Given the description of an element on the screen output the (x, y) to click on. 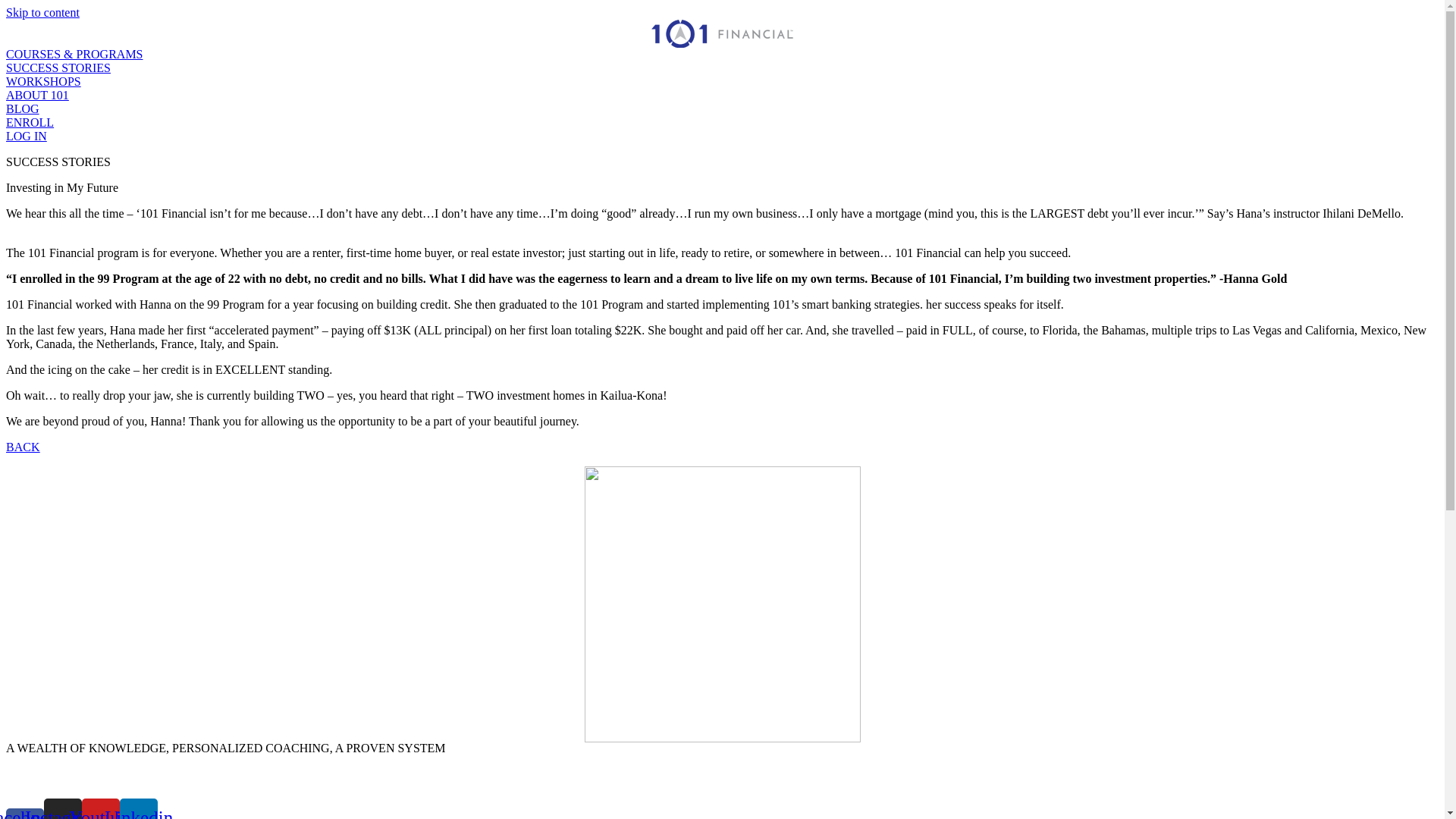
ENROLL Element type: text (29, 122)
SUCCESS STORIES Element type: text (58, 67)
ABOUT 101 Element type: text (37, 94)
COURSES & PROGRAMS Element type: text (74, 53)
WORKSHOPS Element type: text (43, 81)
Skip to content Element type: text (42, 12)
BLOG Element type: text (22, 108)
BACK Element type: text (22, 446)
LOG IN Element type: text (26, 135)
